Given the description of an element on the screen output the (x, y) to click on. 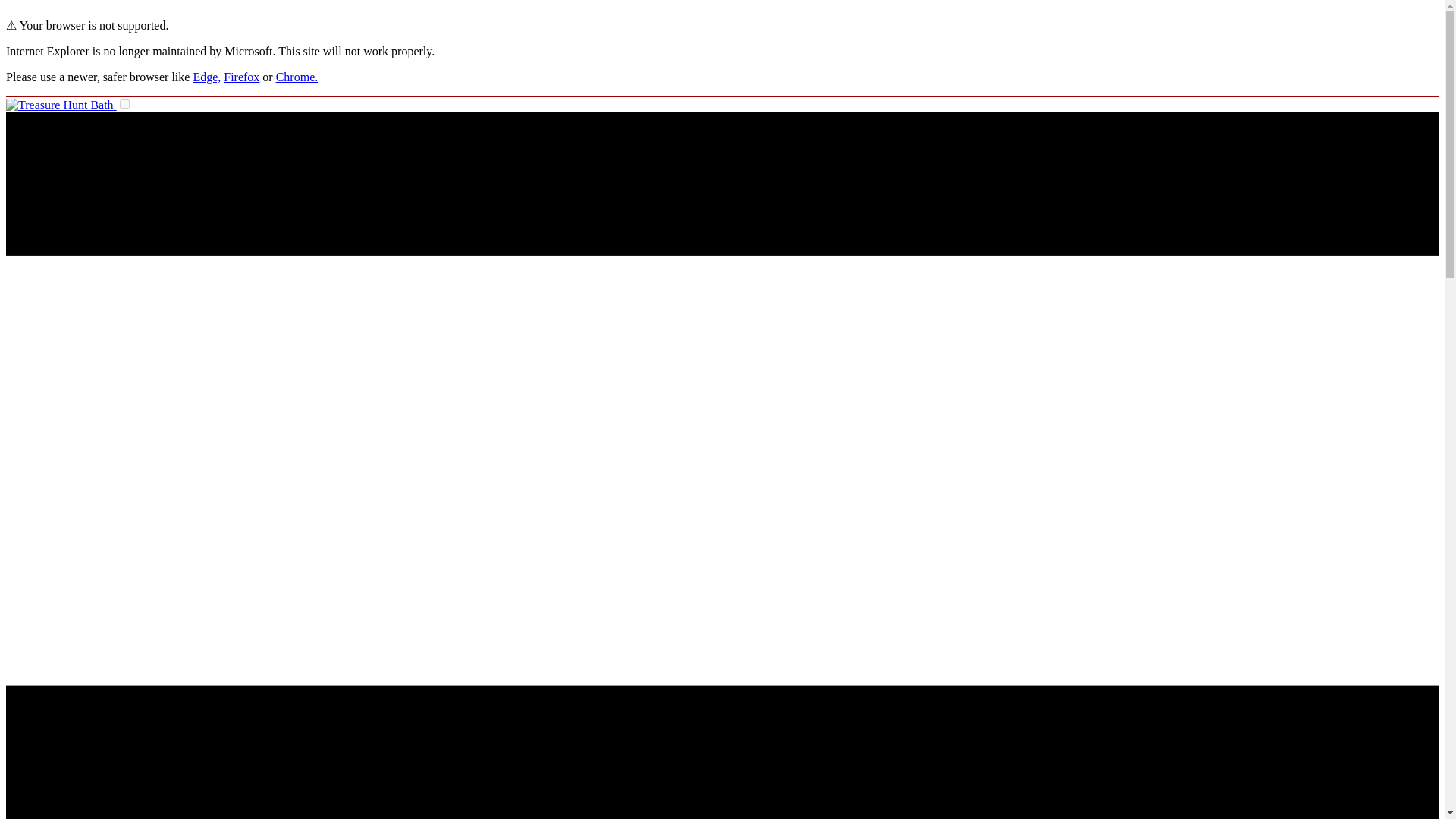
Edge, (206, 76)
on (124, 103)
Chrome. (297, 76)
Firefox (241, 76)
